Given the description of an element on the screen output the (x, y) to click on. 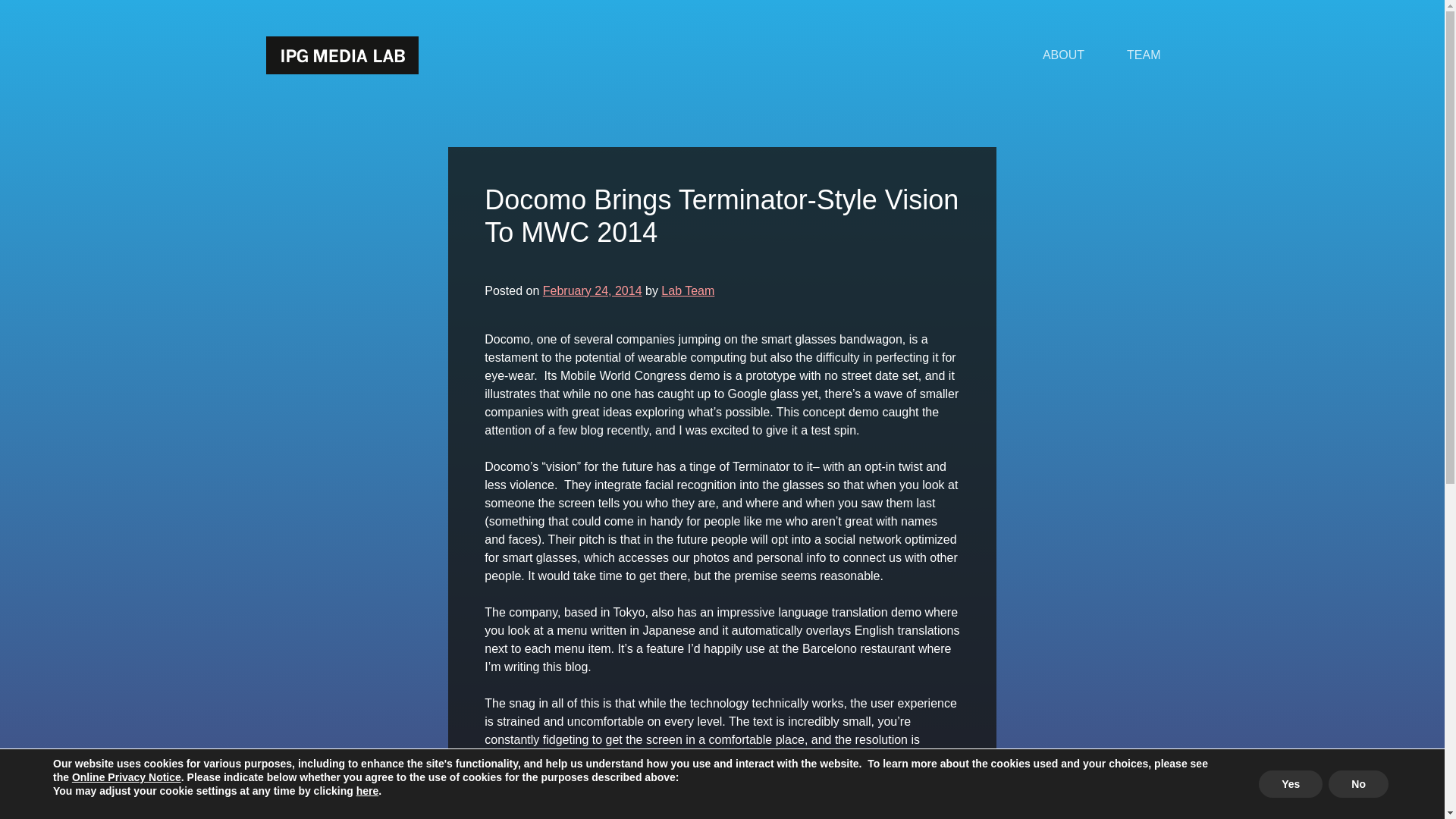
Yes (1290, 783)
mobile world congress 2014 (849, 812)
Online Privacy Notice (125, 776)
google glass (600, 812)
Mobile World Congress (705, 812)
No (1358, 783)
Lab Team (687, 290)
IPG Media Lab (340, 55)
ABOUT (1063, 55)
